Given the description of an element on the screen output the (x, y) to click on. 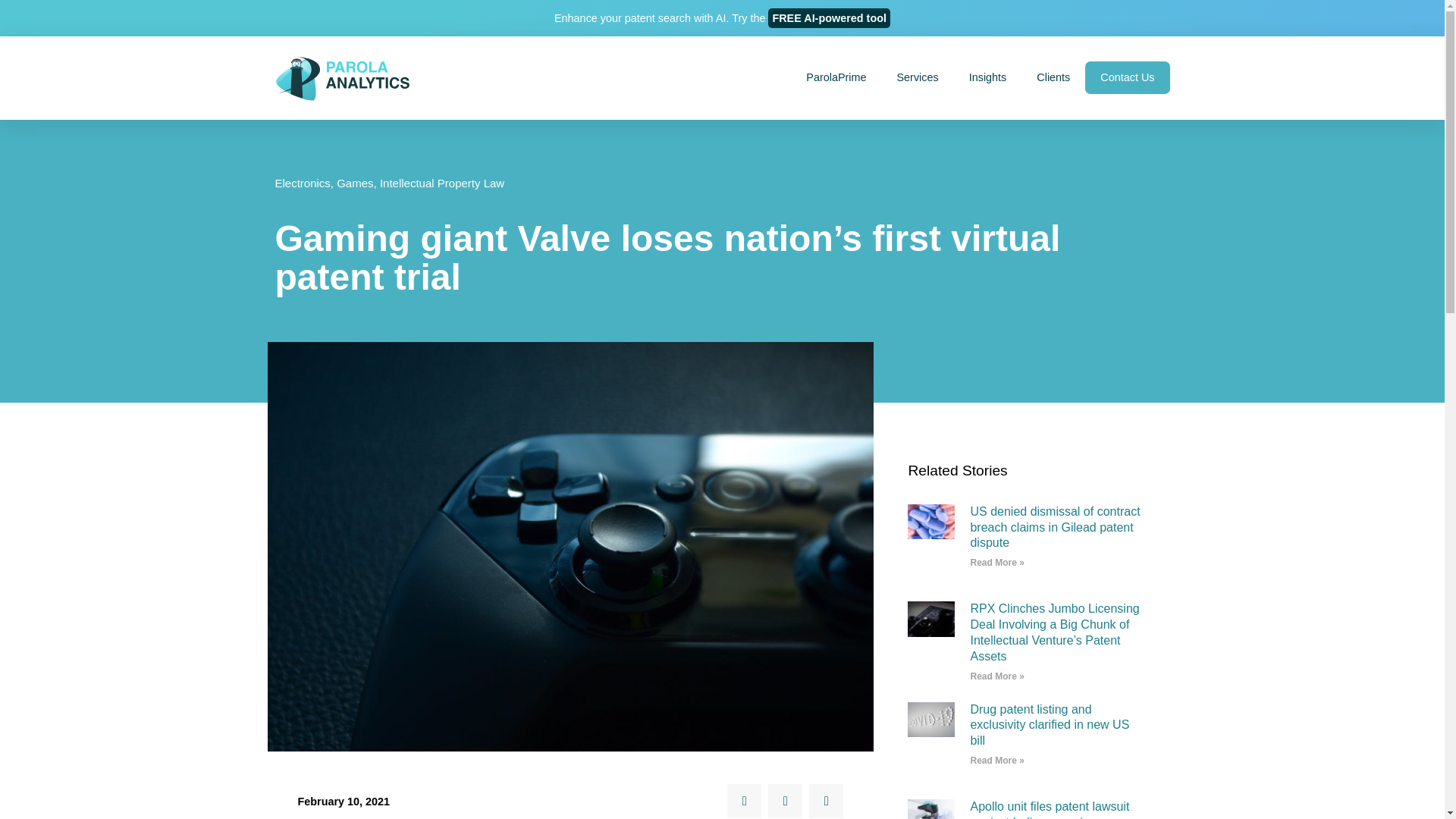
Clients (1053, 77)
ParolaPrime (835, 77)
Contact Us (1126, 77)
FREE AI-powered tool (828, 17)
Services (917, 77)
Insights (987, 77)
